Given the description of an element on the screen output the (x, y) to click on. 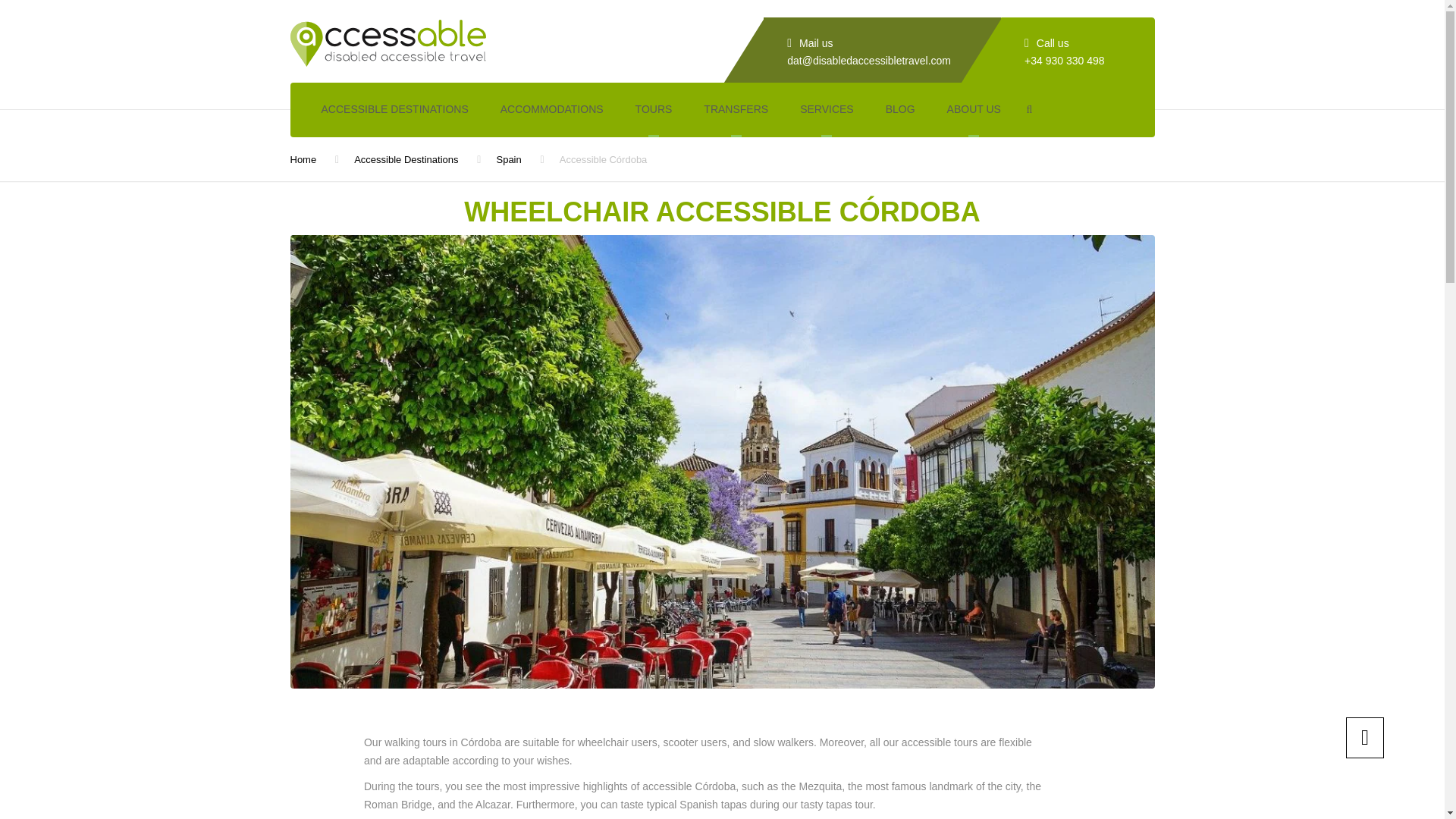
BLOG (900, 109)
Spain (508, 159)
SERVICES (826, 109)
ACCESSIBLE DESTINATIONS (393, 109)
ACCOMMODATIONS (552, 109)
TOURS (654, 109)
ABOUT US (973, 109)
Accessible Destinations (405, 159)
Scroll to top (1364, 737)
Home (302, 159)
TRANSFERS (735, 109)
